Given the description of an element on the screen output the (x, y) to click on. 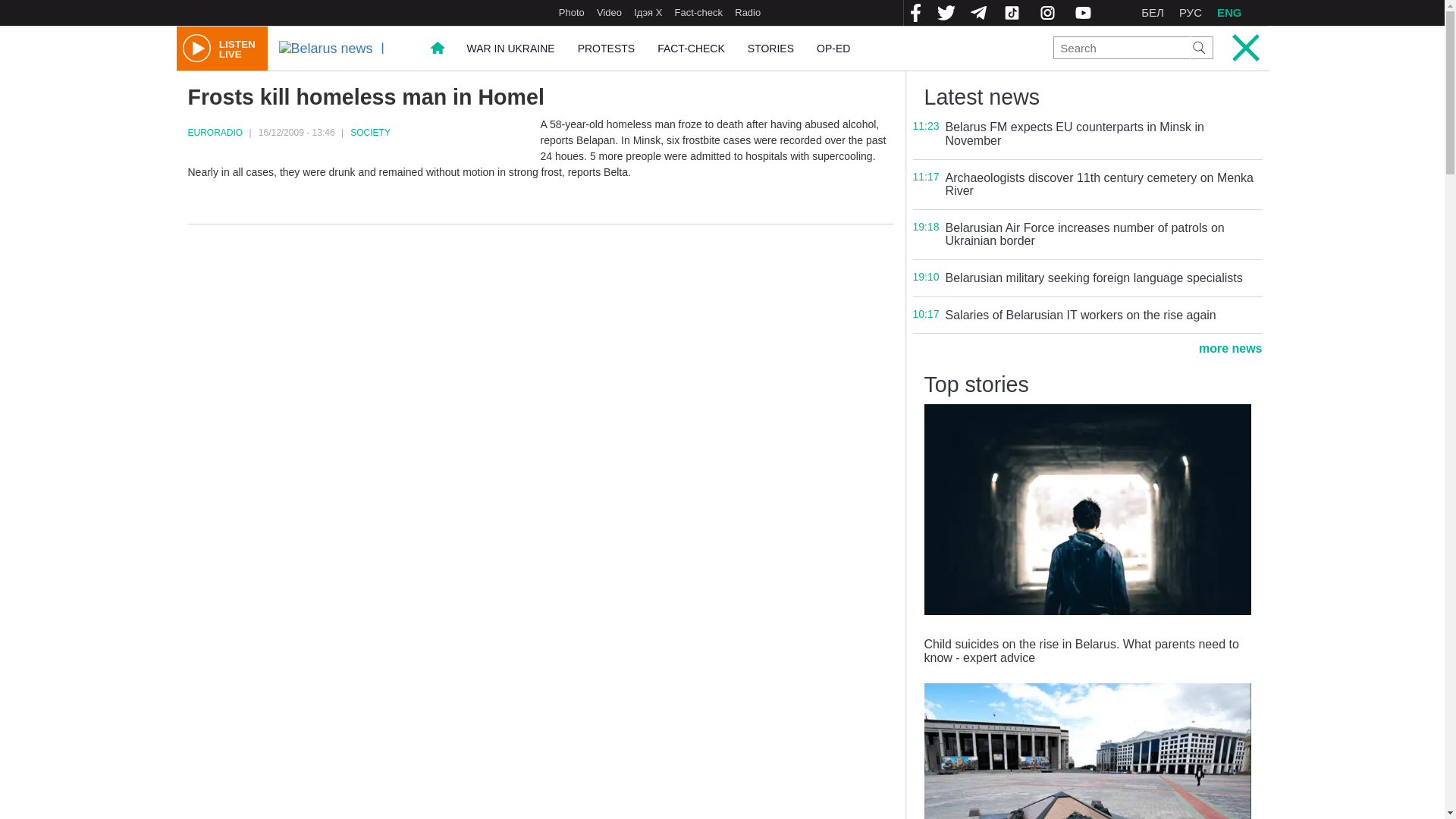
Photo (571, 12)
OP-ED (833, 48)
EURORADIO (215, 132)
more news (1230, 348)
Enter the terms you wish to search for. (221, 48)
SOCIETY (1120, 47)
Radio (370, 132)
